Given the description of an element on the screen output the (x, y) to click on. 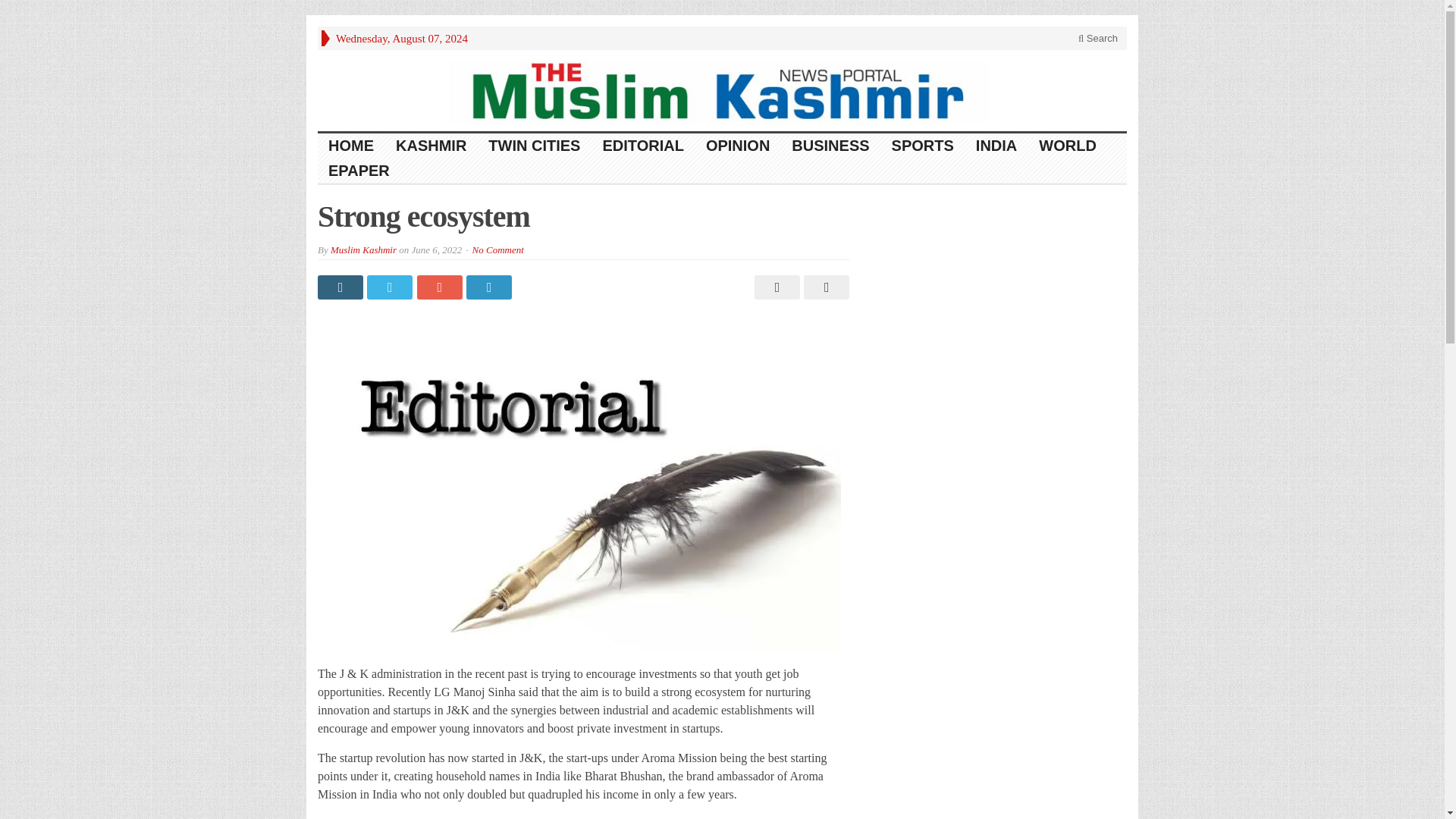
OPINION (737, 145)
Daily Newspaper (721, 90)
BUSINESS (830, 145)
SPORTS (922, 145)
Search (1097, 37)
Share on Twitter (391, 287)
TWIN CITIES (534, 145)
EDITORIAL (642, 145)
INDIA (996, 145)
KASHMIR (431, 145)
Share on Facebook (341, 287)
WORLD (1067, 145)
Send by Email (823, 287)
Advertisement (999, 305)
Muslim Kashmir (363, 249)
